Given the description of an element on the screen output the (x, y) to click on. 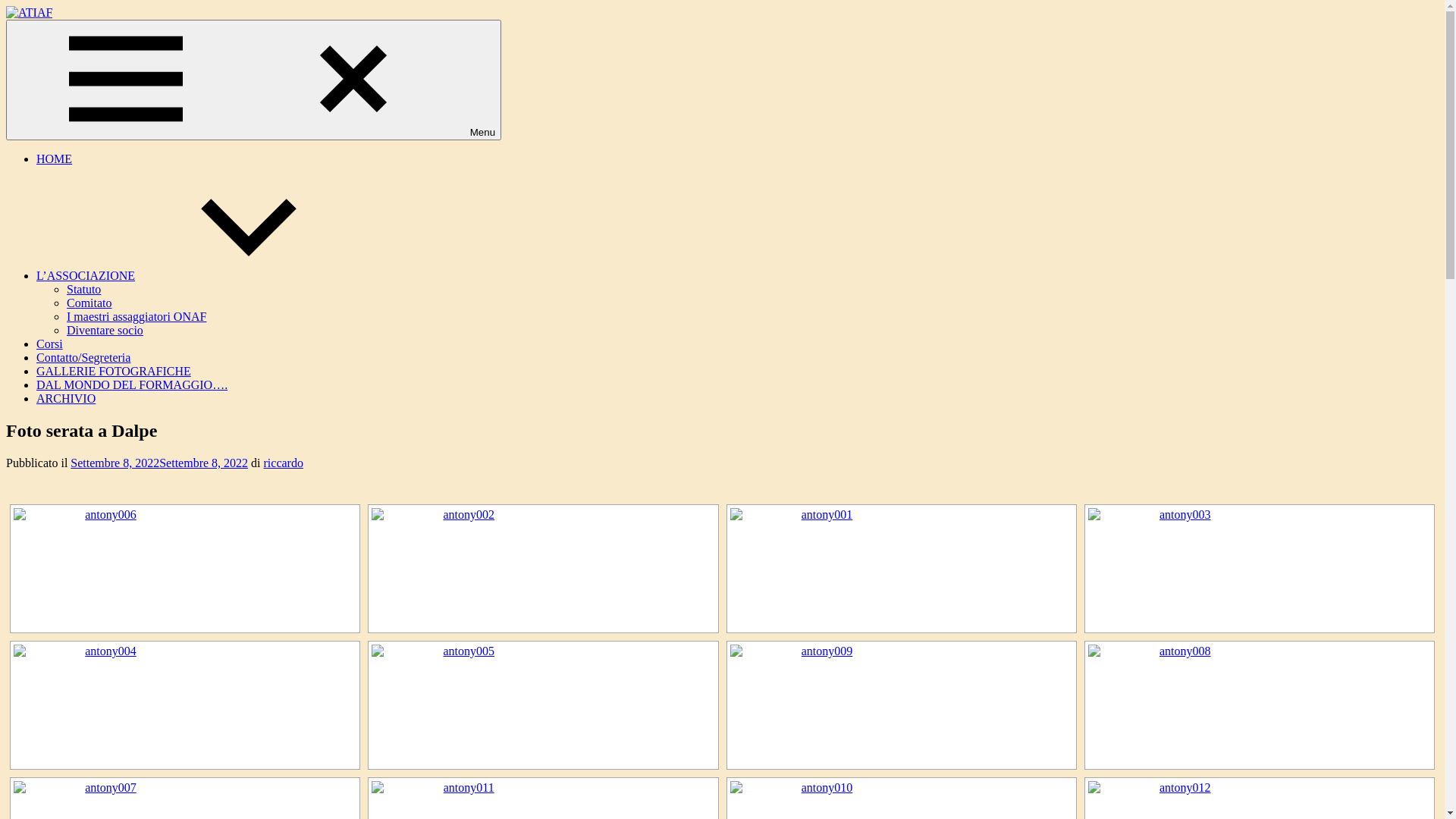
ARCHIVIO Element type: text (65, 398)
I maestri assaggiatori ONAF Element type: text (136, 316)
Salta al contenuto Element type: text (5, 5)
Corsi Element type: text (49, 343)
antony008 Element type: hover (1179, 704)
antony001 Element type: hover (820, 568)
Diventare socio Element type: text (104, 329)
GALLERIE FOTOGRAFICHE Element type: text (113, 370)
HOME Element type: text (54, 158)
antony005 Element type: hover (462, 704)
Statuto Element type: text (83, 288)
antony004 Element type: hover (104, 704)
Contatto/Segreteria Element type: text (83, 357)
Settembre 8, 2022Settembre 8, 2022 Element type: text (158, 462)
Comitato Element type: text (89, 302)
antony002 Element type: hover (462, 568)
antony009 Element type: hover (820, 704)
antony003 Element type: hover (1179, 568)
antony006 Element type: hover (104, 568)
ATIAF Element type: text (23, 37)
Menu Element type: text (253, 79)
riccardo Element type: text (283, 462)
